Given the description of an element on the screen output the (x, y) to click on. 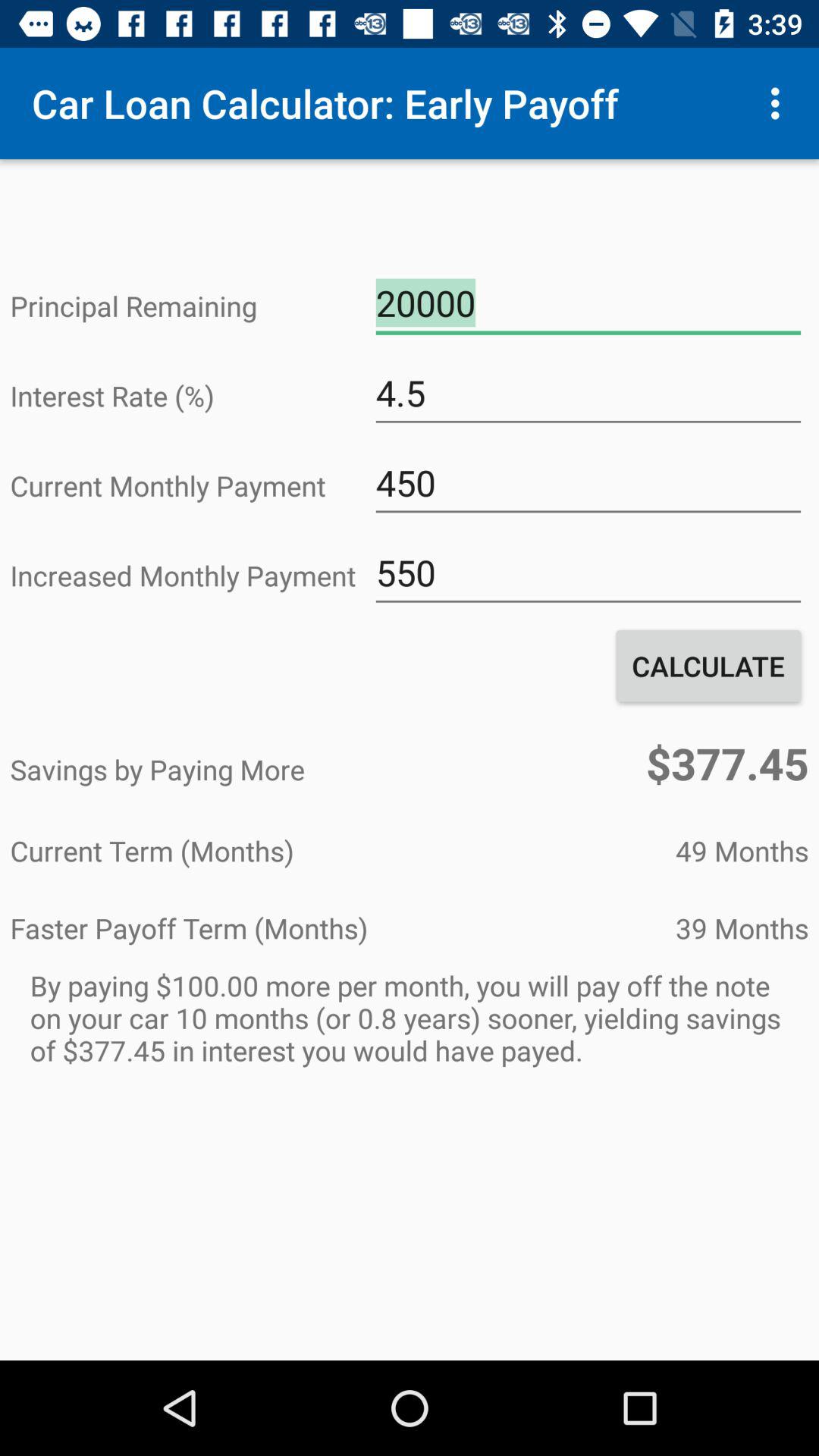
press the item above 4.5 icon (587, 303)
